Given the description of an element on the screen output the (x, y) to click on. 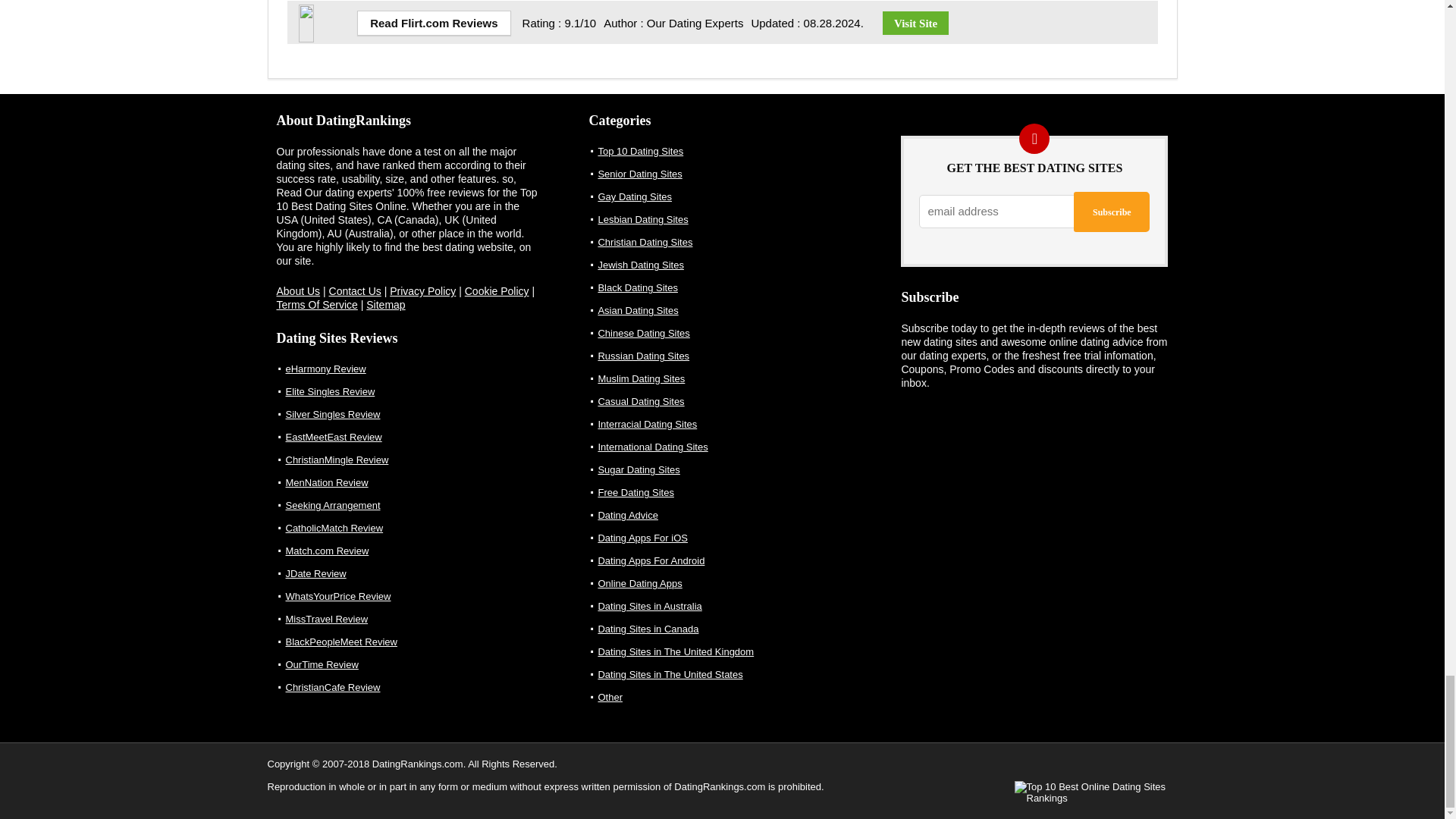
Flirt.com Reviews (324, 10)
Visit Flirt.com (915, 23)
Flirt.com Reviews (433, 23)
Subscribe (1112, 211)
